Given the description of an element on the screen output the (x, y) to click on. 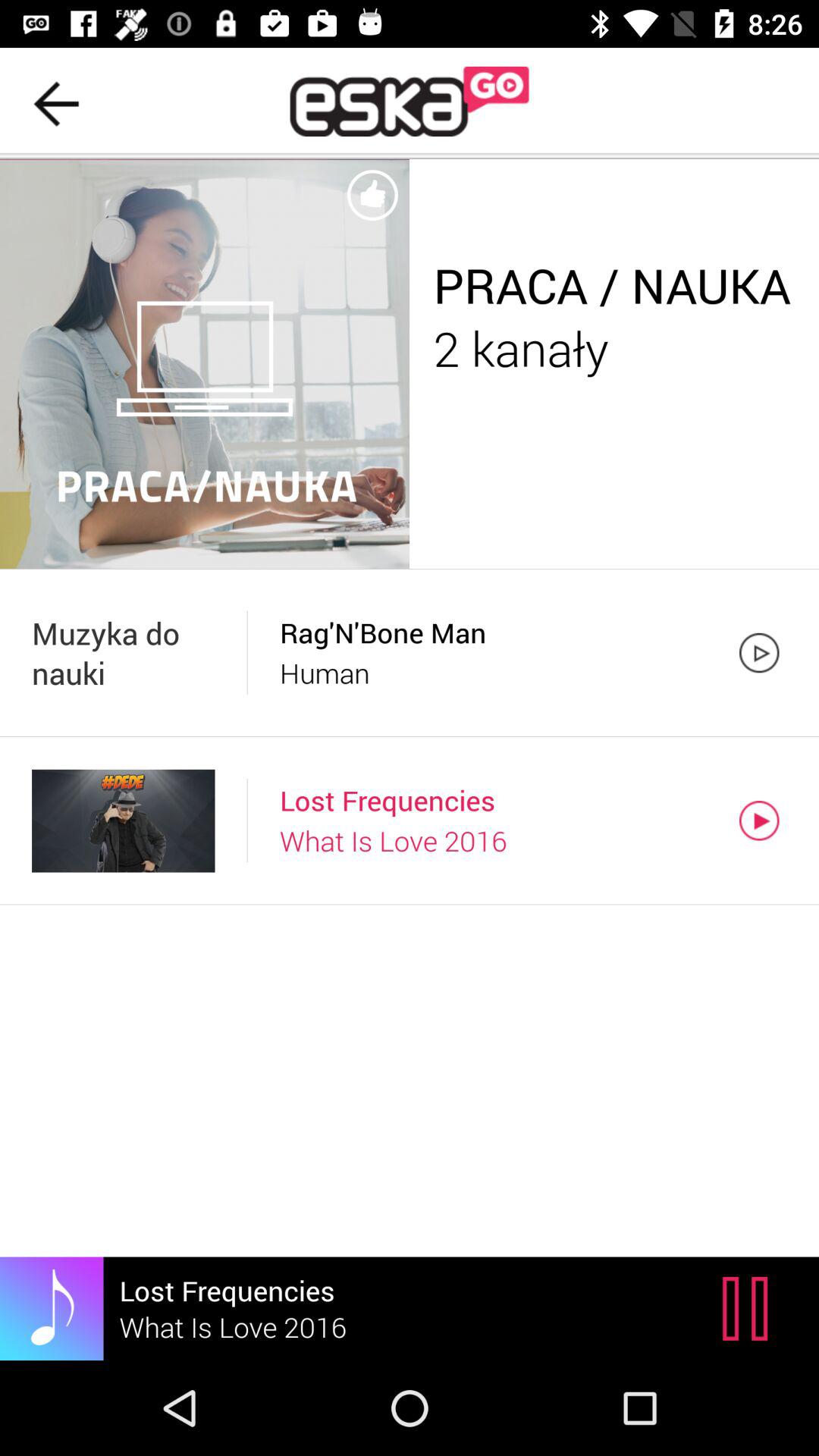
open the icon at the bottom right corner (749, 1308)
